Given the description of an element on the screen output the (x, y) to click on. 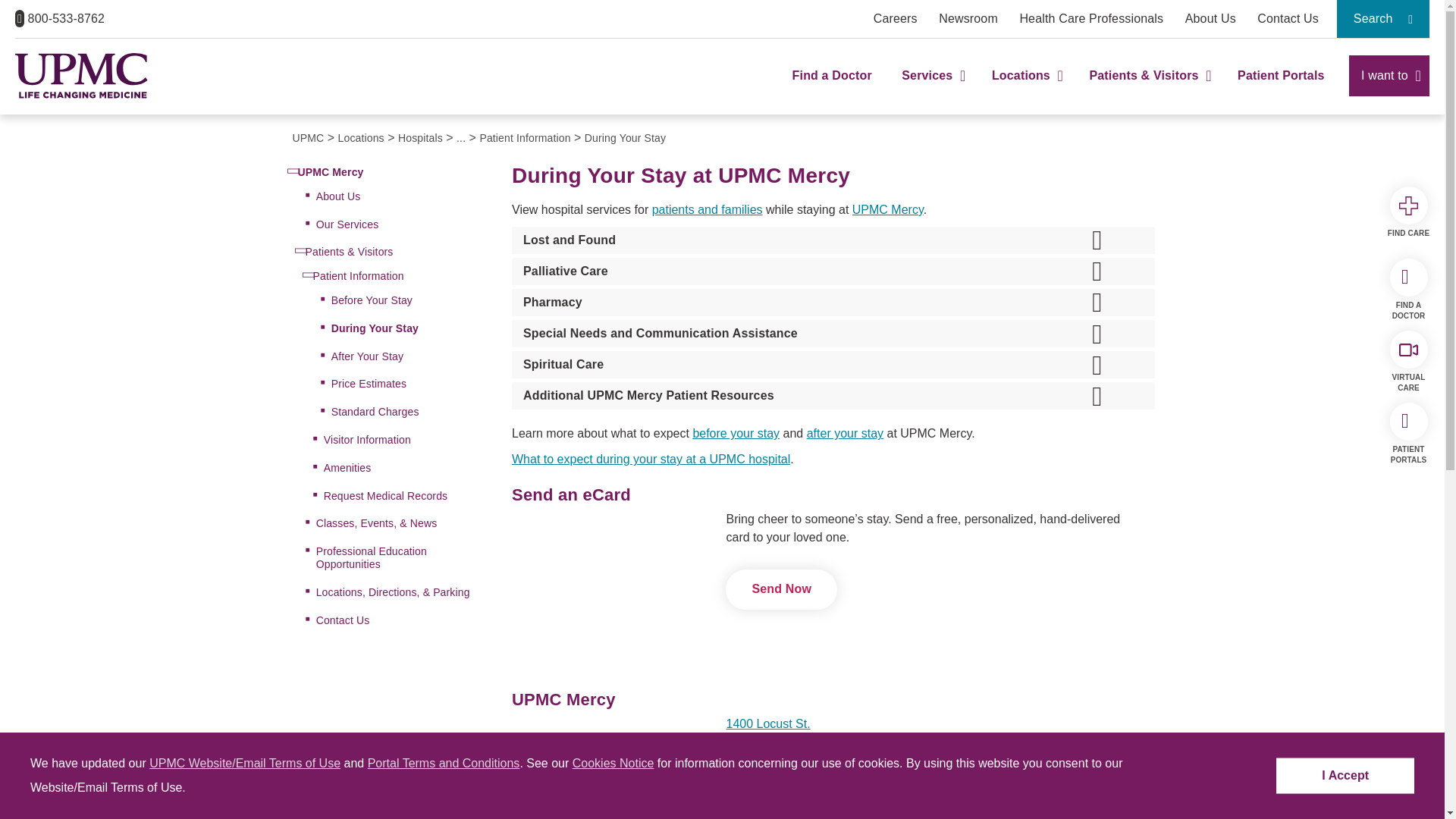
Newsroom (968, 18)
Search (1382, 18)
Find a Doctor (832, 89)
Learn more about careers and job openings at UPMC. (895, 18)
Portal Terms and Conditions (443, 762)
Careers (895, 18)
I Accept (1344, 775)
Services (930, 89)
Cookies Notice (612, 762)
Contact UPMC (1288, 18)
